Given the description of an element on the screen output the (x, y) to click on. 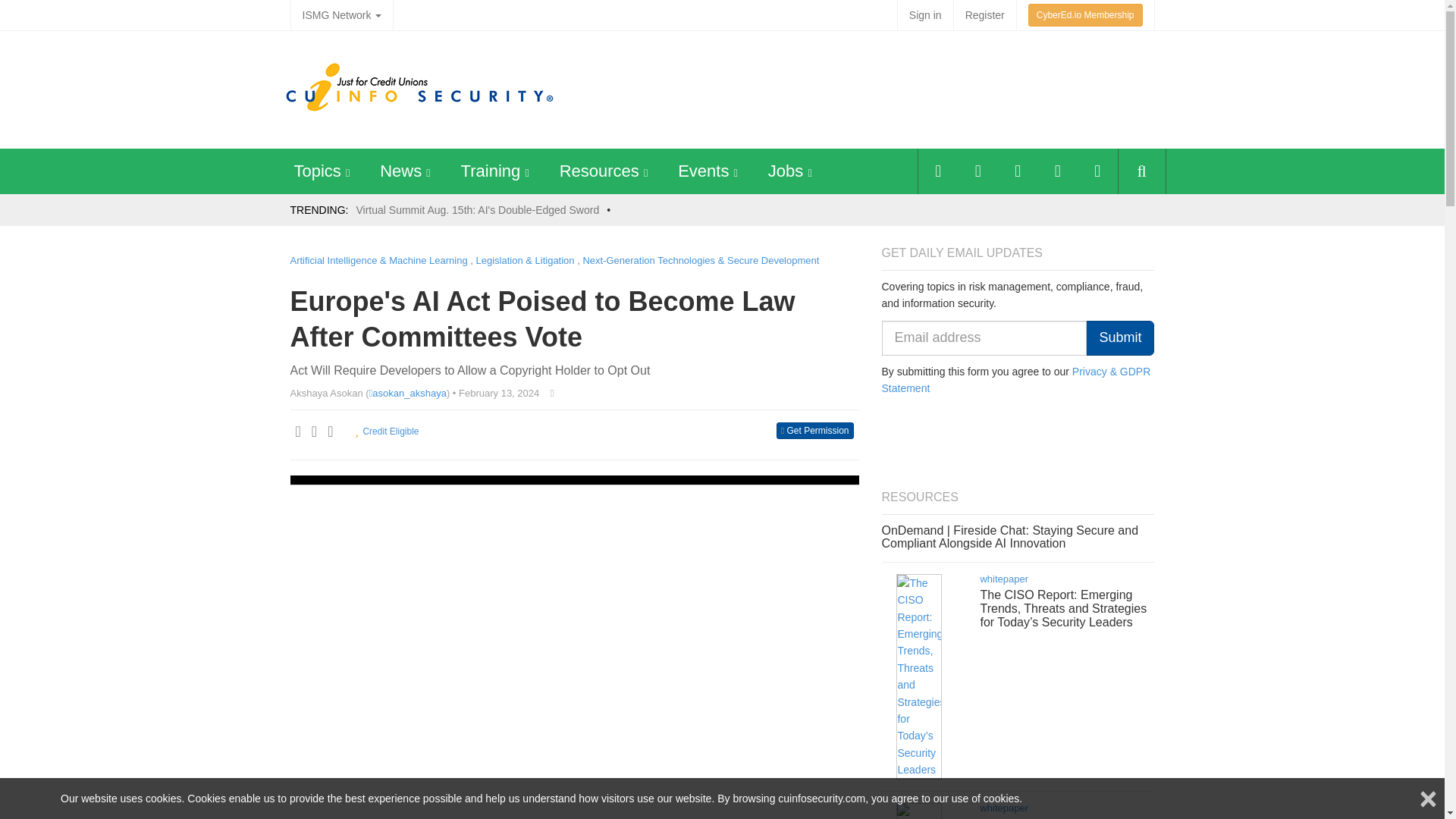
Register (984, 15)
Topics (317, 170)
CyberEd.io Membership (1084, 15)
Sign in (925, 15)
ISMG Network (341, 15)
